Given the description of an element on the screen output the (x, y) to click on. 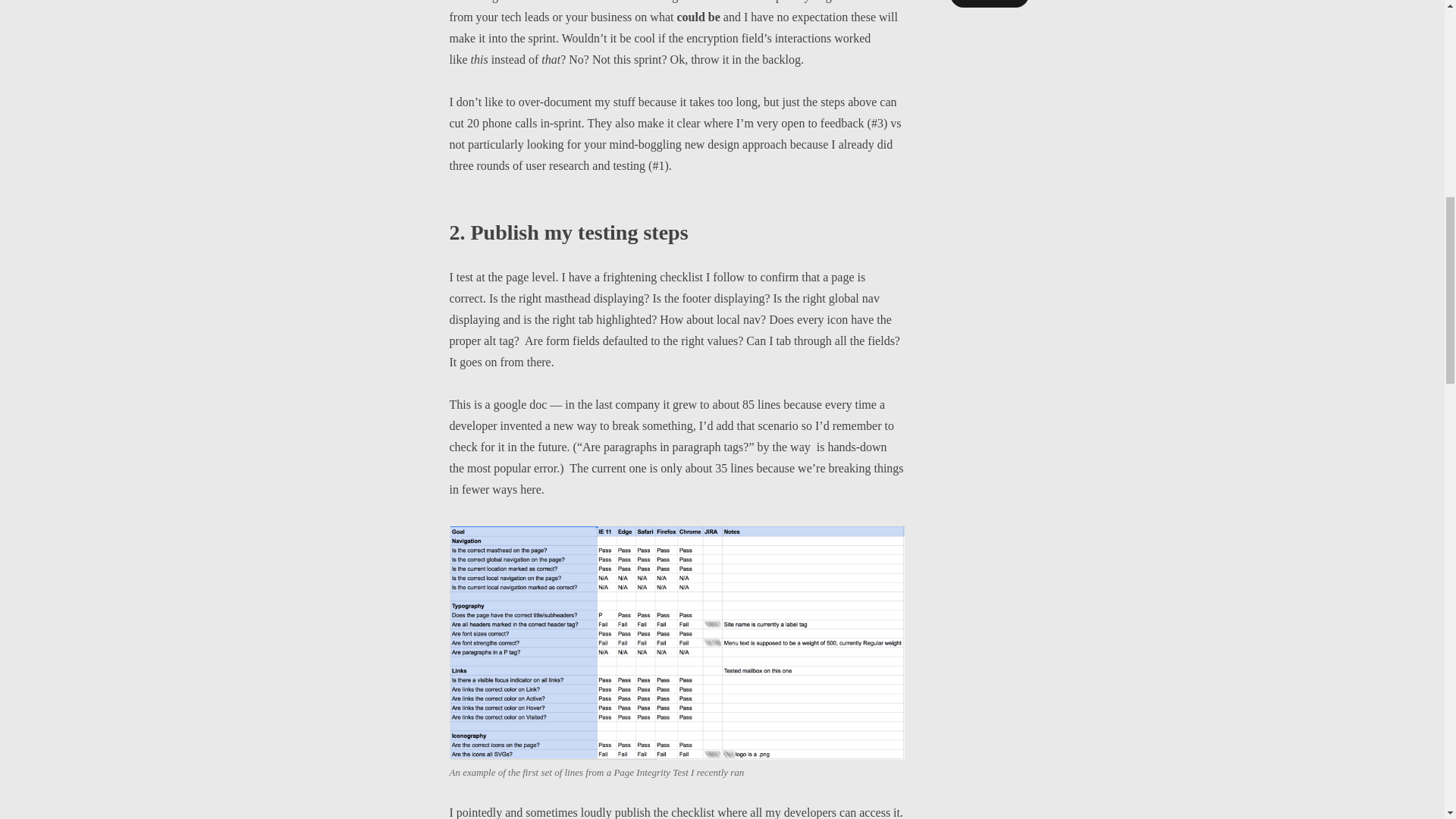
SUBSCRIBE (988, 3)
